Given the description of an element on the screen output the (x, y) to click on. 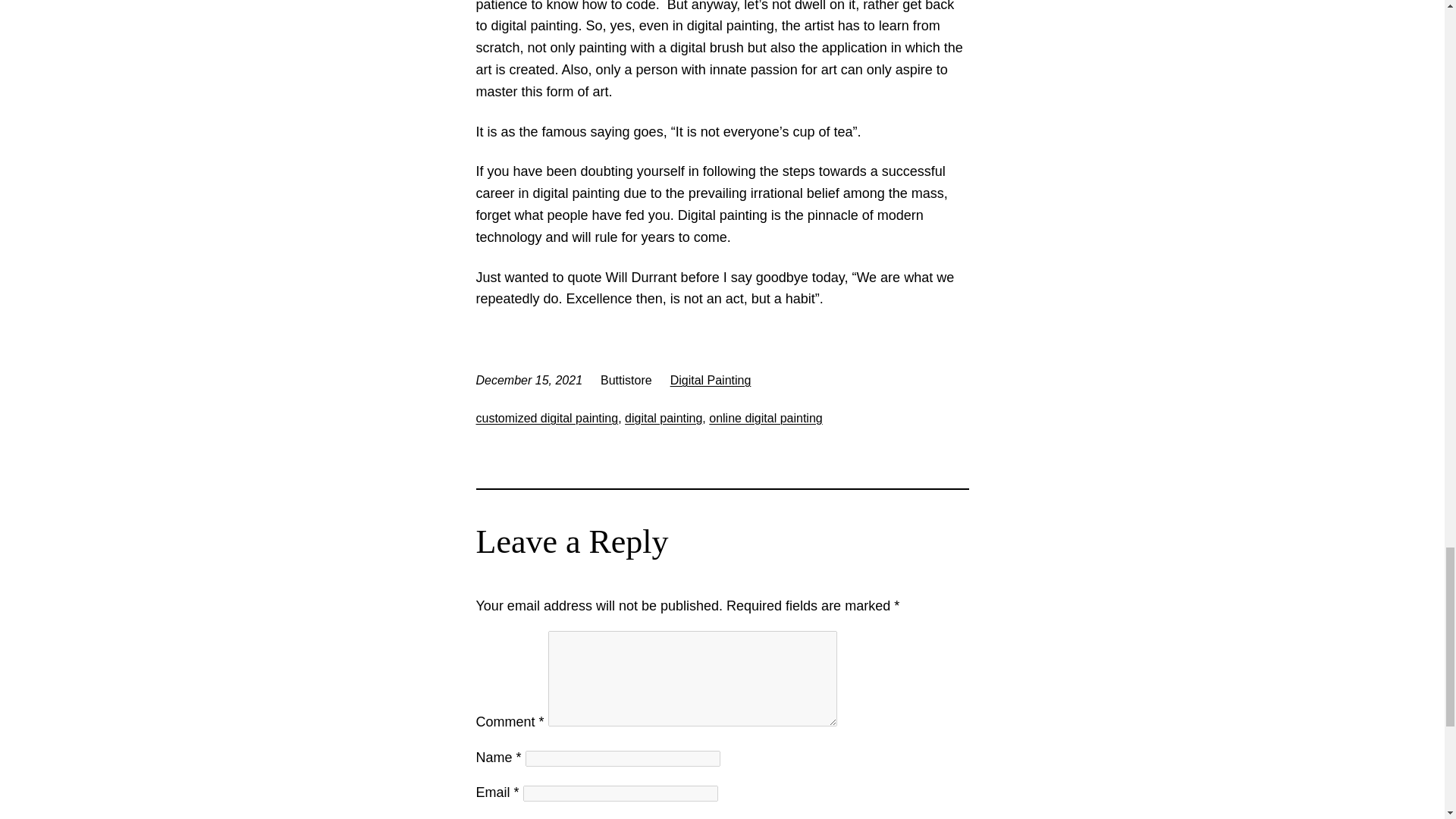
online digital painting (765, 418)
Digital Painting (710, 379)
digital painting (662, 418)
customized digital painting (547, 418)
